Given the description of an element on the screen output the (x, y) to click on. 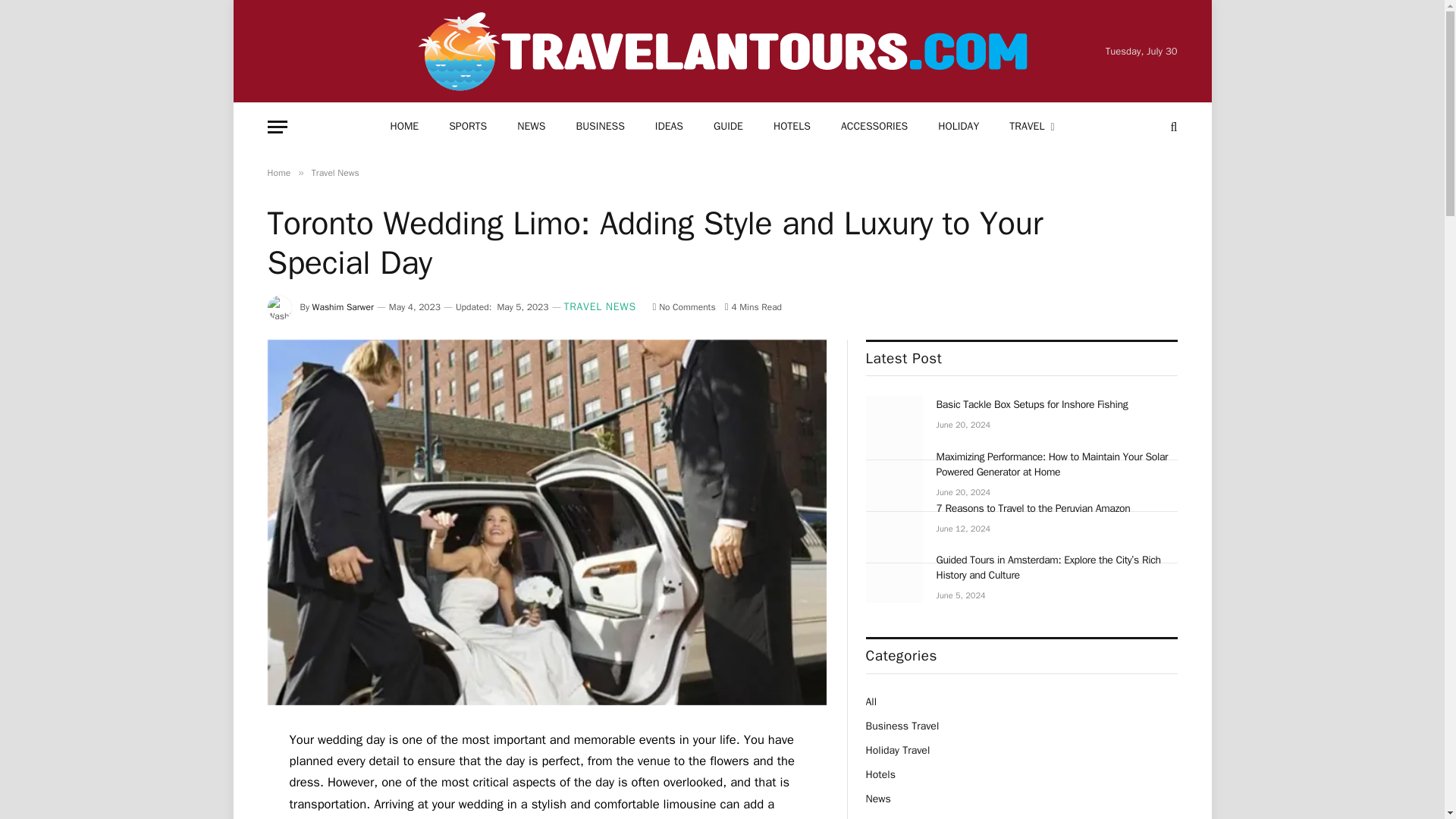
ACCESSORIES (874, 126)
Travelantours.com (721, 51)
IDEAS (669, 126)
BUSINESS (599, 126)
No Comments (683, 306)
HOLIDAY (958, 126)
HOME (403, 126)
NEWS (531, 126)
SPORTS (467, 126)
Posts by Washim Sarwer (343, 306)
Home (277, 173)
GUIDE (728, 126)
HOTELS (791, 126)
TRAVEL NEWS (600, 307)
